Given the description of an element on the screen output the (x, y) to click on. 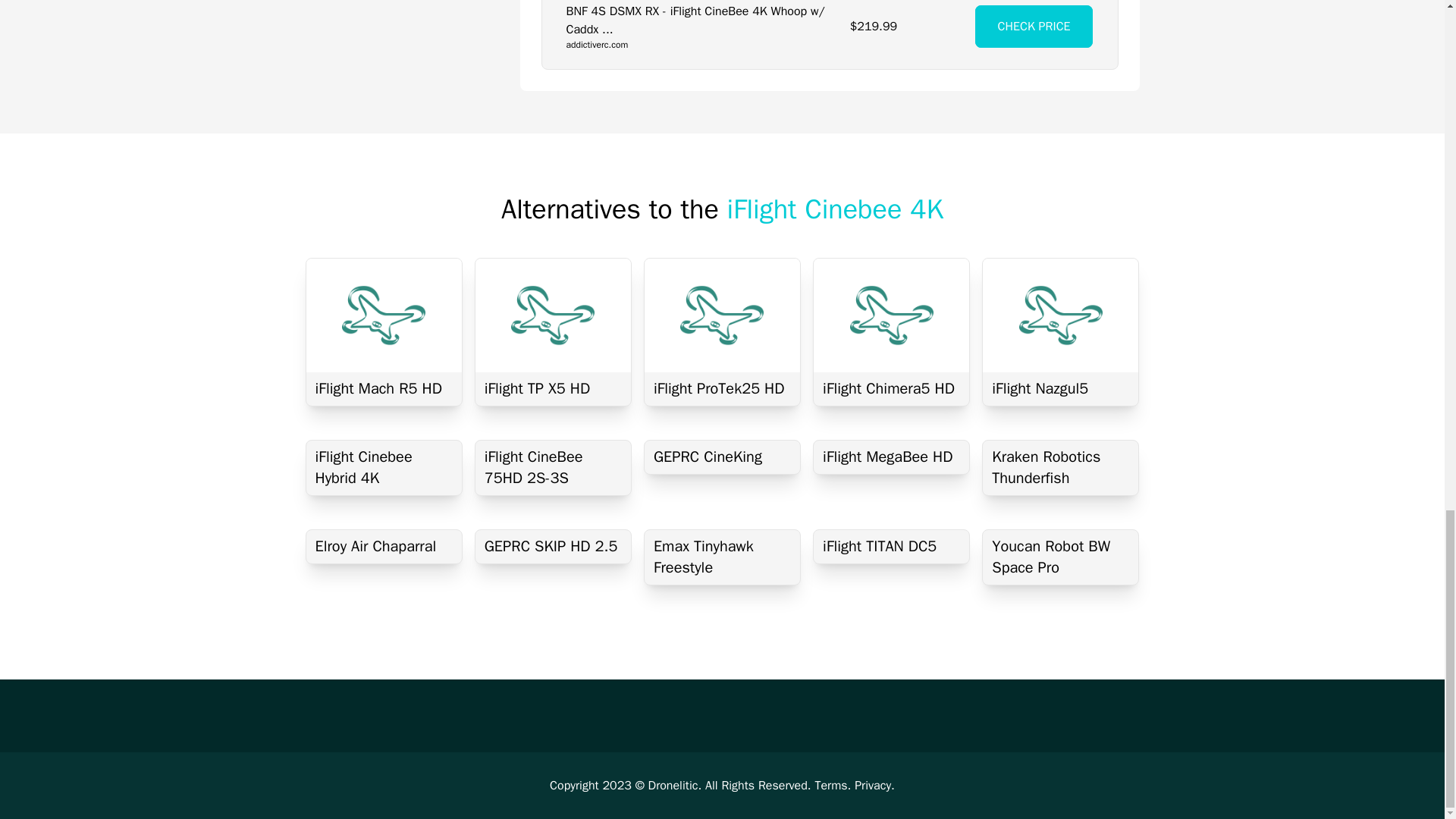
iFlight Mach R5 HD (383, 388)
iFlight Cinebee Hybrid 4K (383, 467)
iFlight ProTek25 HD (722, 388)
iFlight Nazgul5 (1060, 388)
iFlight CineBee 75HD 2S-3S (553, 467)
Kraken Robotics Thunderfish (1060, 467)
CHECK PRICE (1034, 25)
GEPRC CineKing (722, 457)
iFlight MegaBee HD (891, 457)
iFlight Chimera5 HD (891, 388)
